Given the description of an element on the screen output the (x, y) to click on. 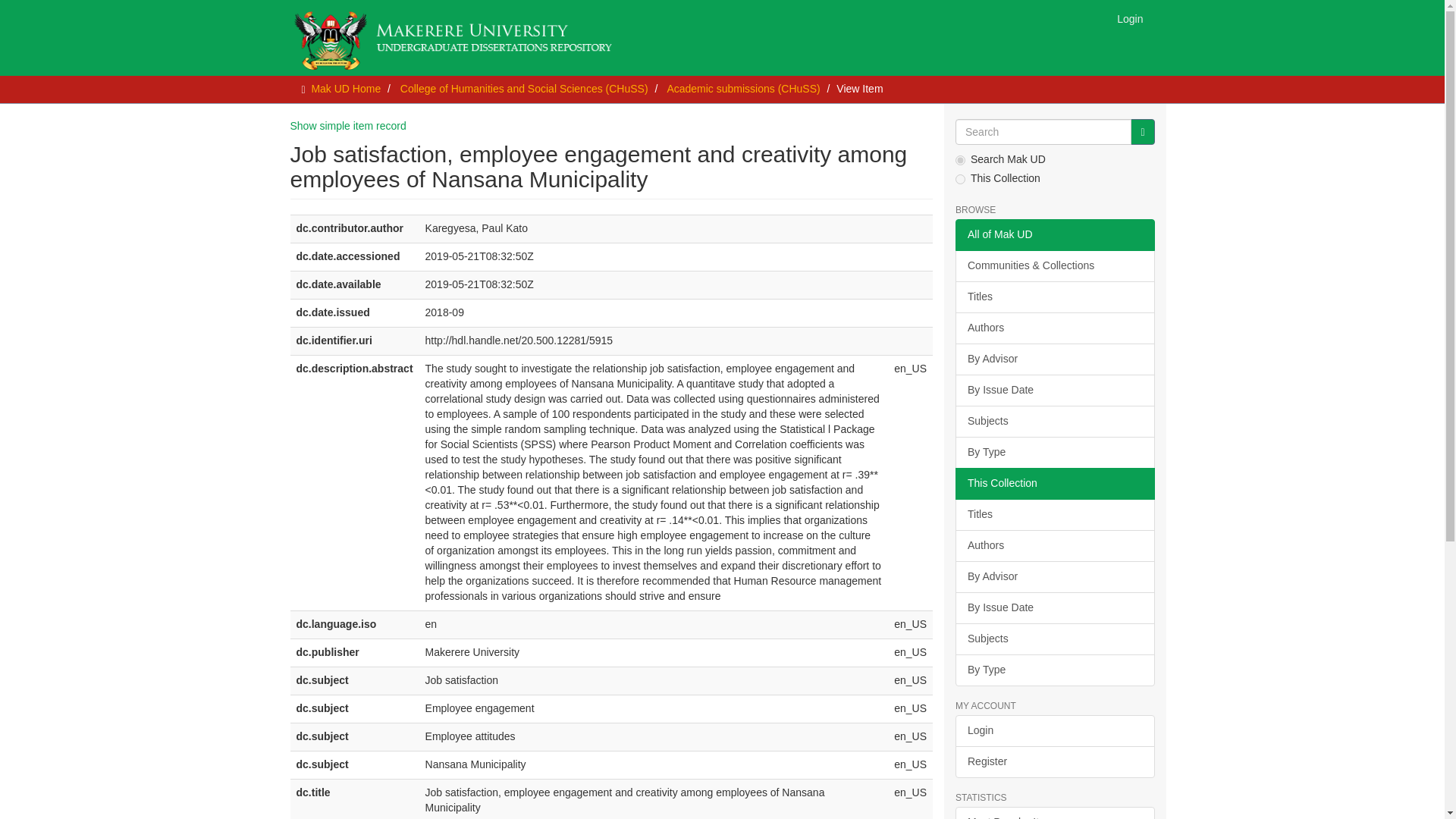
By Issue Date (1054, 390)
By Advisor (1054, 359)
Titles (1054, 296)
Authors (1054, 327)
By Type (1054, 452)
Show simple item record (347, 125)
This Collection (1054, 483)
Titles (1054, 514)
Subjects (1054, 421)
Mak UD Home (345, 88)
All of Mak UD (1054, 234)
By Issue Date (1054, 608)
Login (1129, 18)
By Advisor (1054, 576)
Subjects (1054, 639)
